Given the description of an element on the screen output the (x, y) to click on. 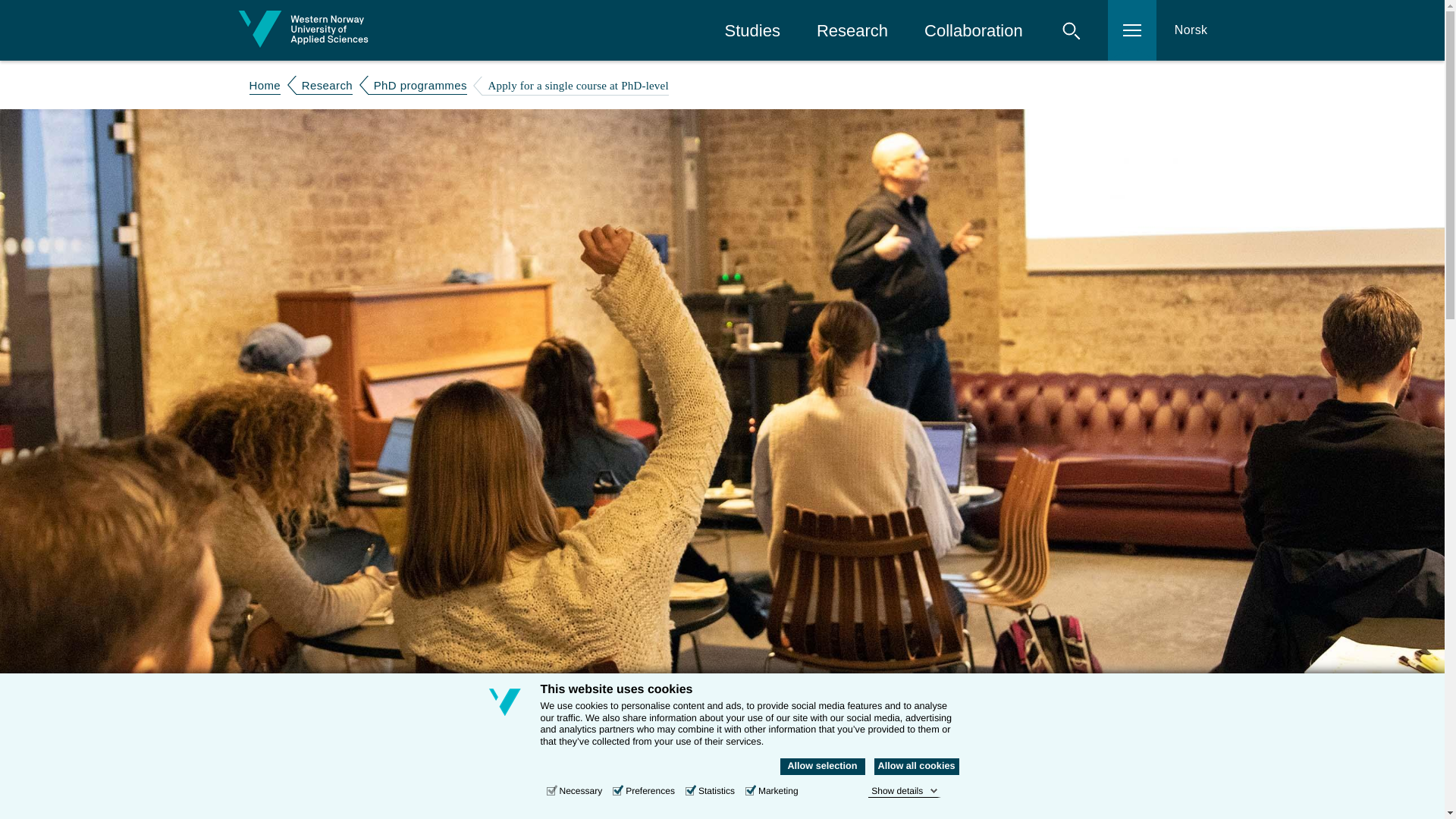
Show details (903, 790)
Allow all cookies (915, 766)
Allow selection (821, 766)
